Given the description of an element on the screen output the (x, y) to click on. 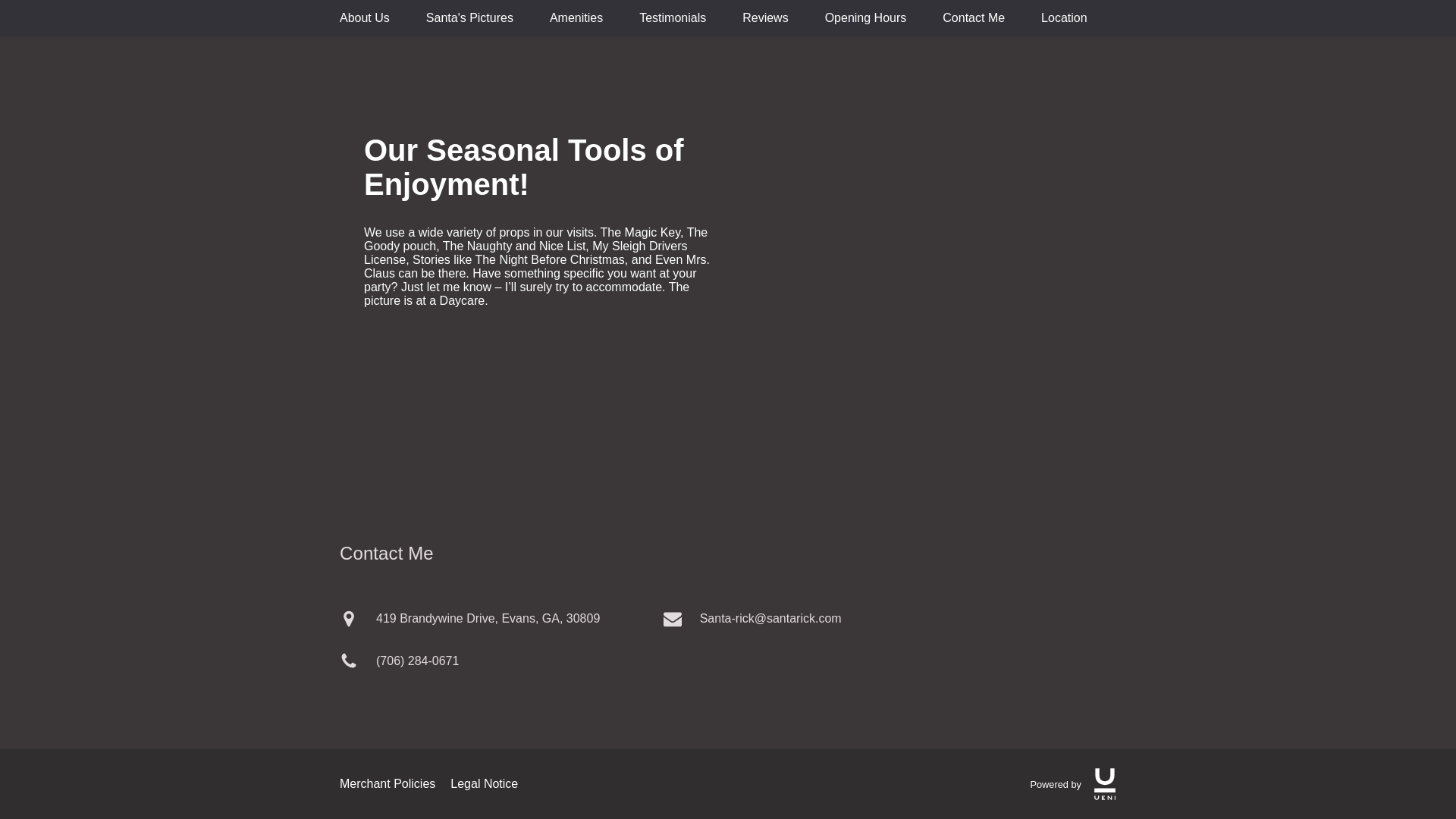
Reviews (764, 18)
Merchant Policies (387, 783)
Opening Hours (866, 18)
419 Brandywine Drive, Evans, GA, 30809 (498, 618)
Amenities (576, 18)
Legal Notice (483, 783)
Santa's Pictures (469, 18)
Contact Me (973, 18)
Testimonials (672, 18)
Location (1064, 18)
About Us (364, 18)
